Given the description of an element on the screen output the (x, y) to click on. 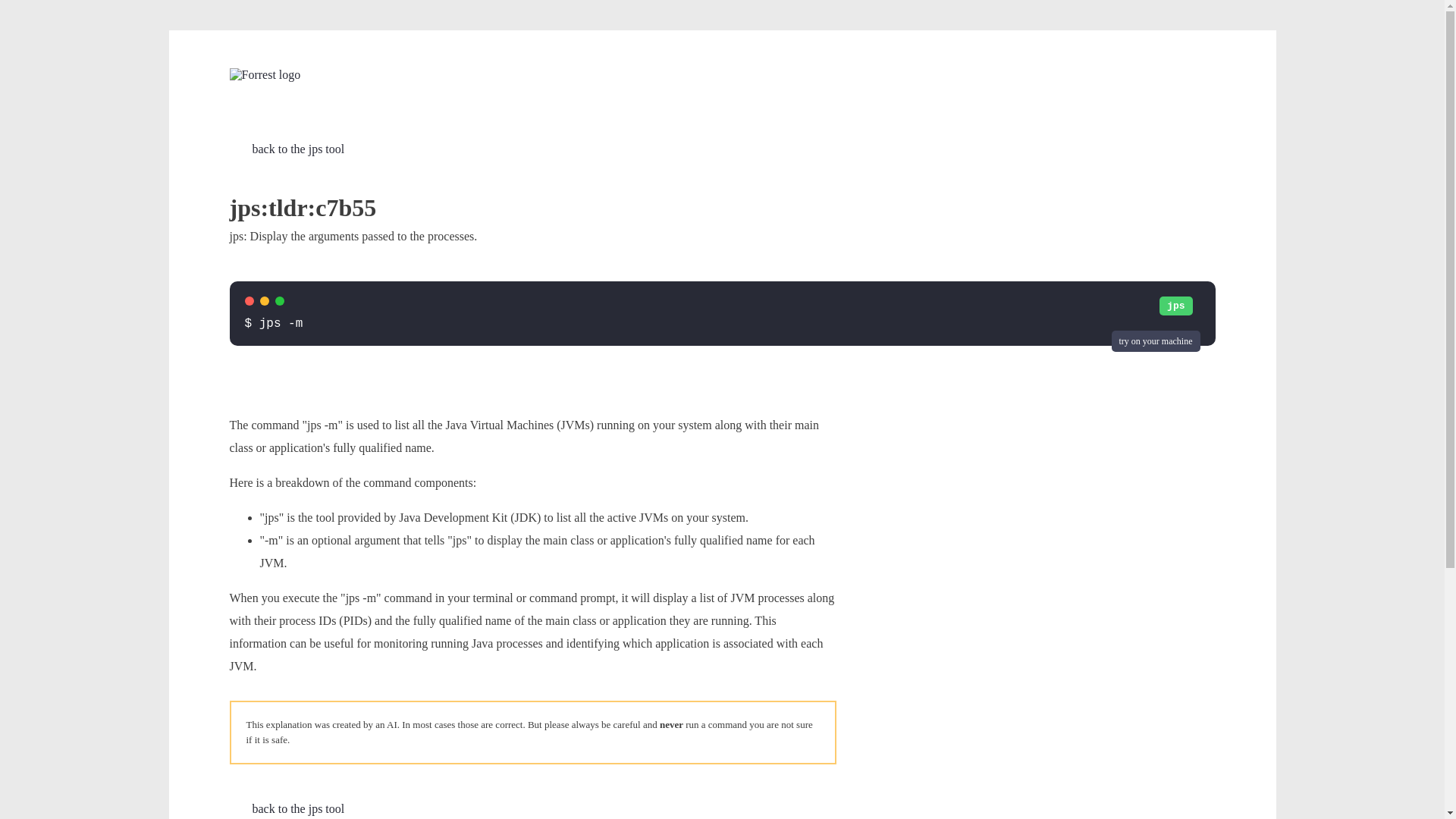
back to the jps tool (285, 148)
back to the jps tool (285, 808)
jps (1176, 306)
